Given the description of an element on the screen output the (x, y) to click on. 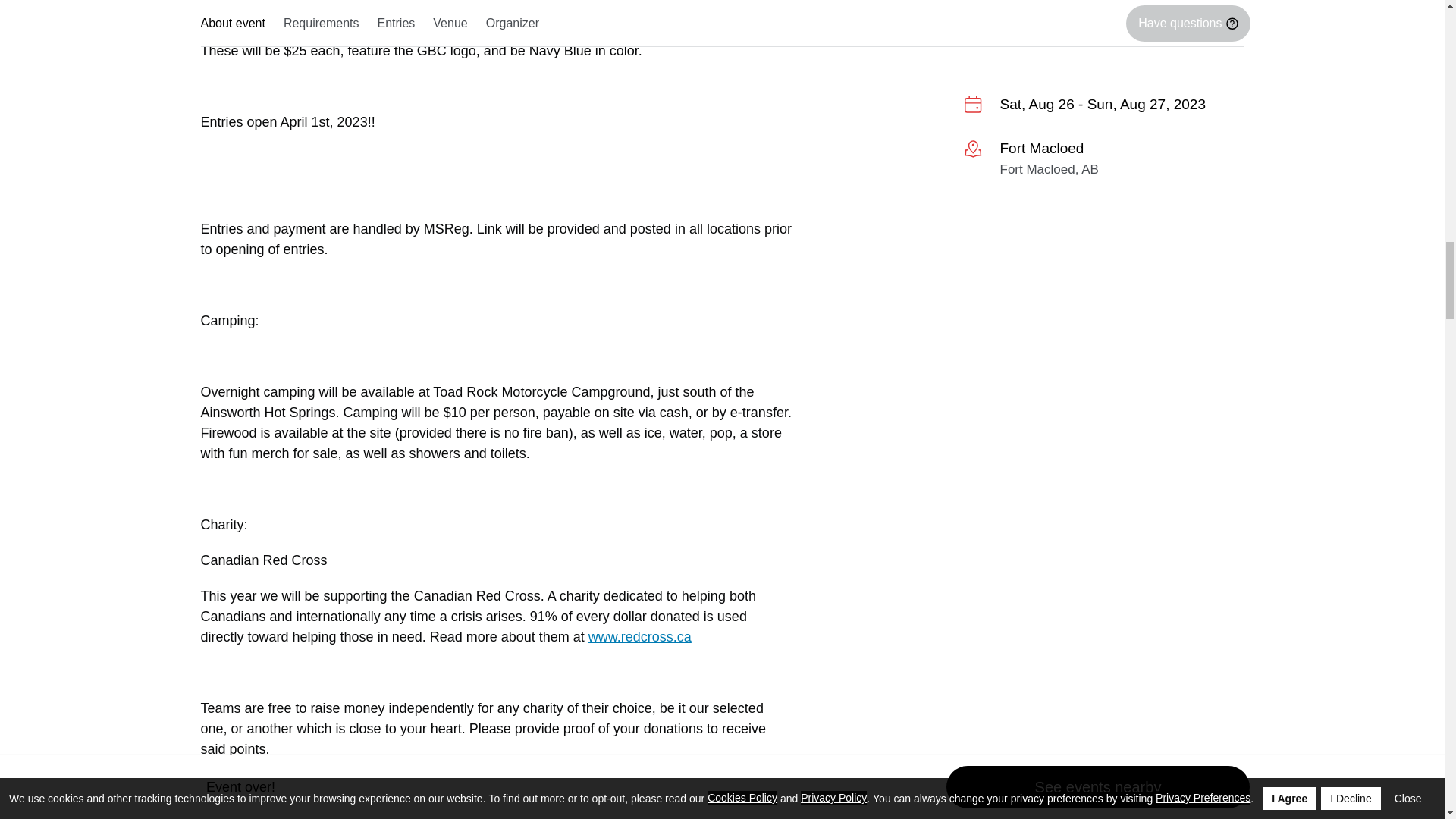
www.redcross.ca (639, 636)
